Given the description of an element on the screen output the (x, y) to click on. 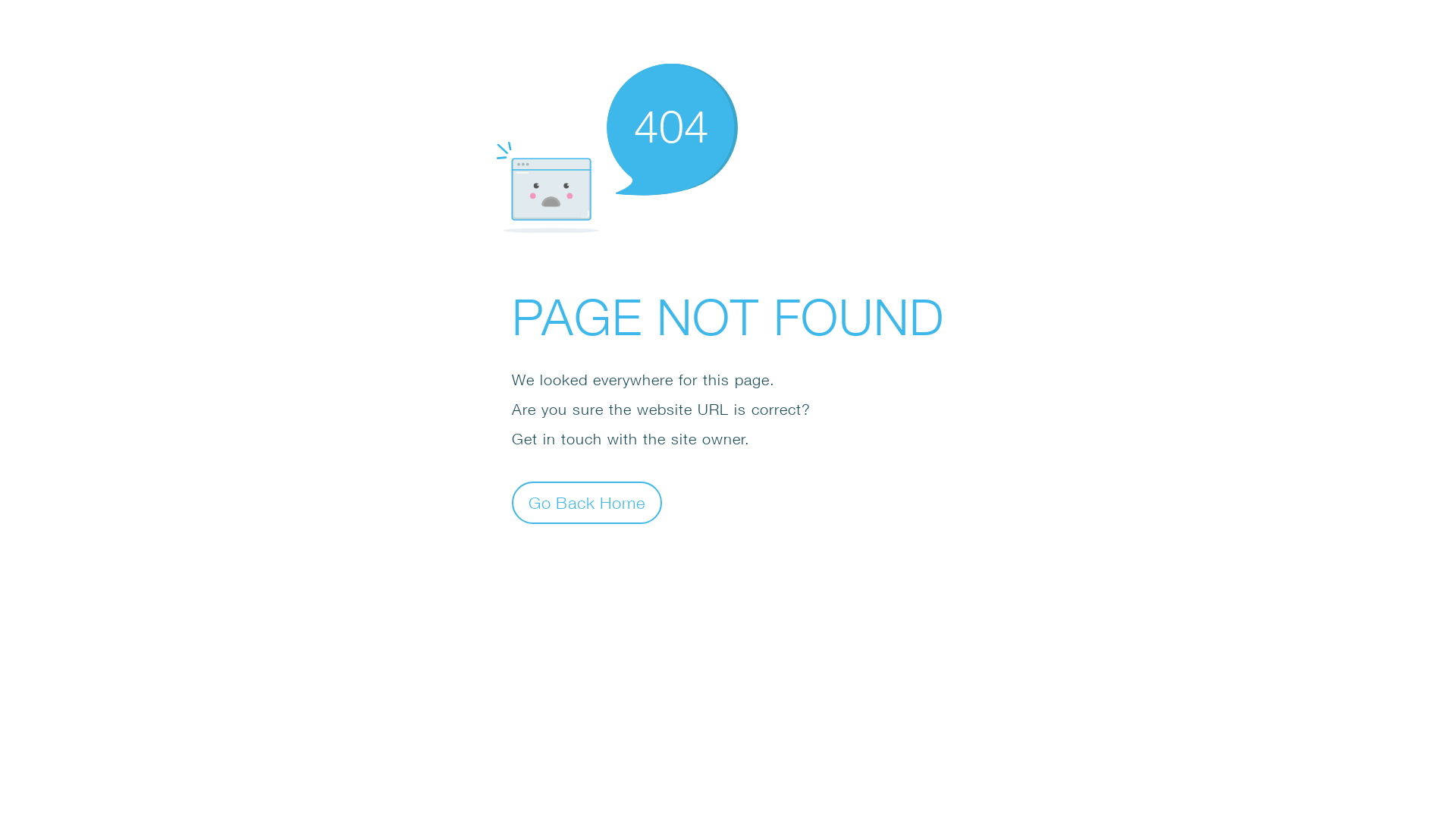
Go Back Home Element type: text (586, 502)
